Given the description of an element on the screen output the (x, y) to click on. 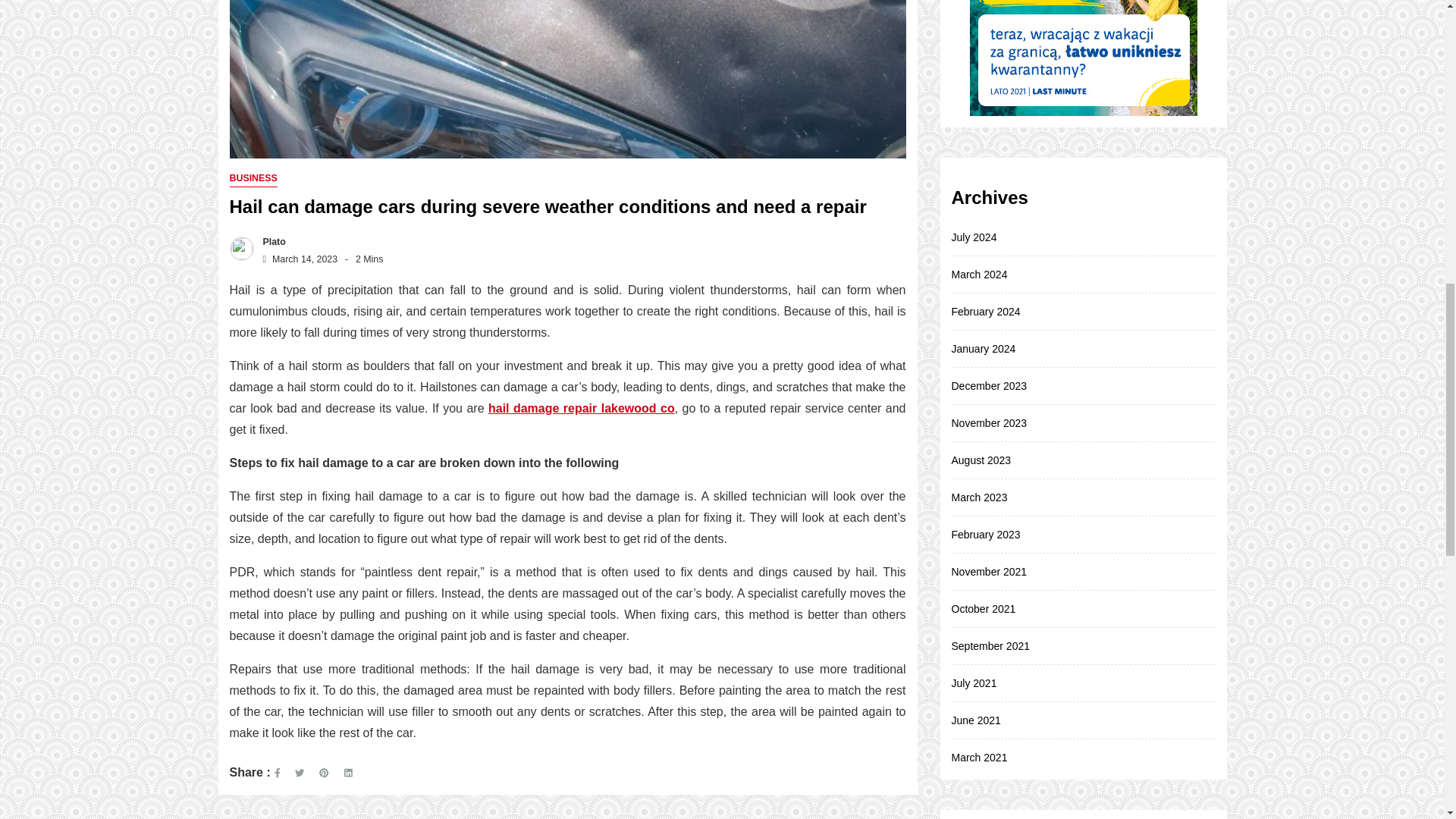
hail damage repair lakewood co (581, 408)
BUSINESS (252, 178)
Plato (270, 241)
March 14, 2023 (296, 258)
